Given the description of an element on the screen output the (x, y) to click on. 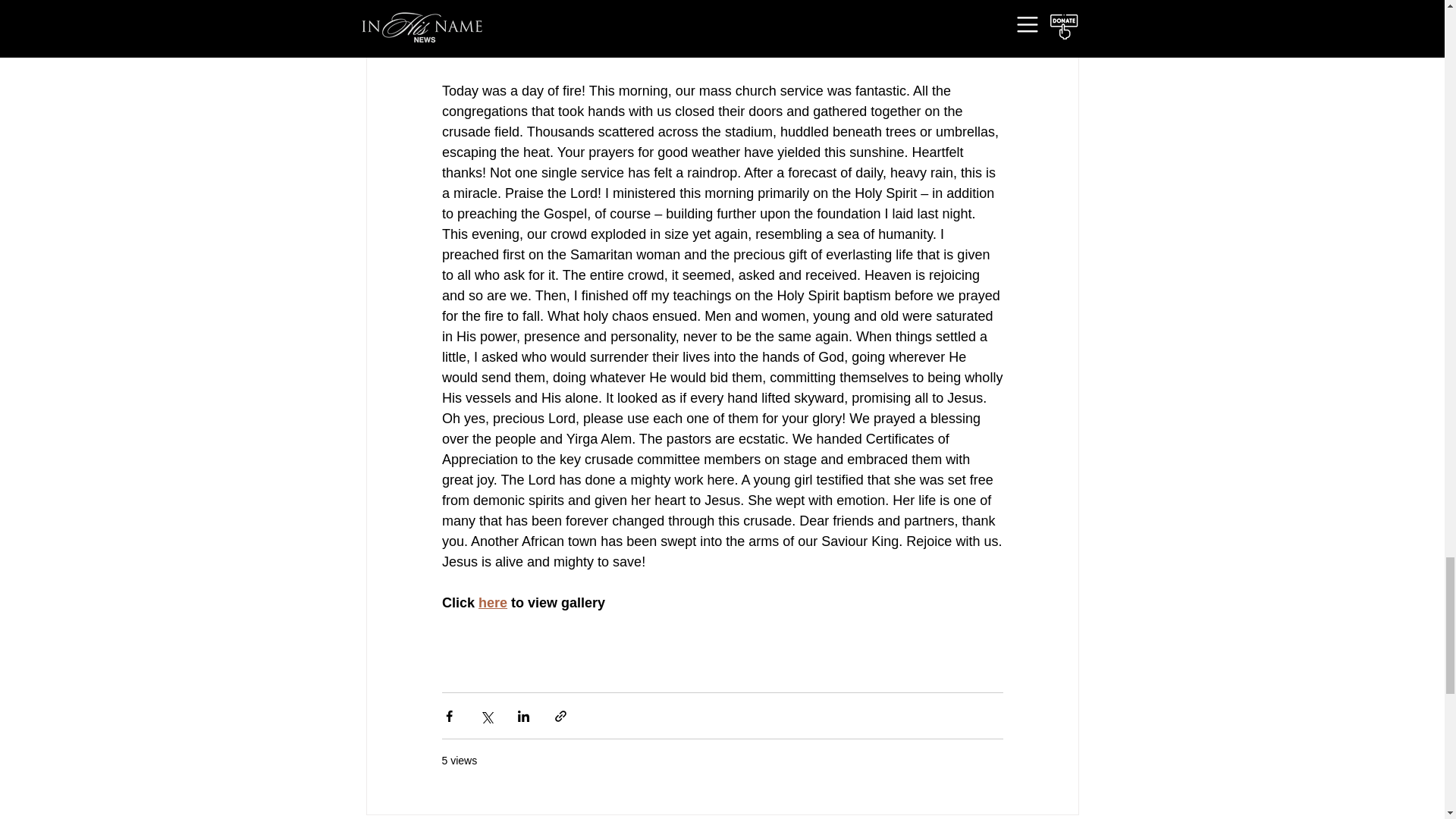
here (492, 602)
